Given the description of an element on the screen output the (x, y) to click on. 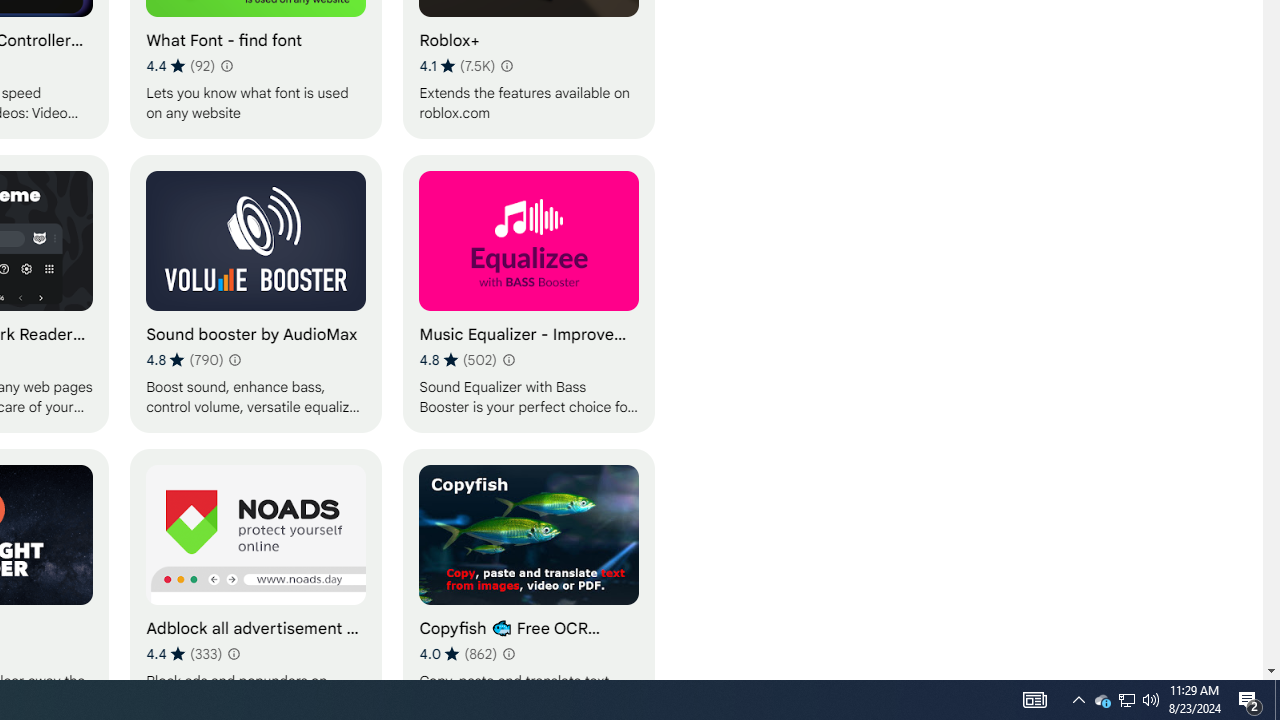
Music Equalizer - Improve Sound for everyone (529, 293)
Sound booster by AudioMax (256, 293)
Average rating 4.8 out of 5 stars. 502 ratings. (457, 359)
Learn more about results and reviews "Roblox+" (506, 65)
Average rating 4.4 out of 5 stars. 333 ratings. (183, 653)
Average rating 4.1 out of 5 stars. 7.5K ratings. (457, 66)
Average rating 4.8 out of 5 stars. 790 ratings. (184, 359)
Average rating 4.4 out of 5 stars. 92 ratings. (180, 66)
Average rating 4.0 out of 5 stars. 862 ratings. (457, 653)
Learn more about results and reviews "What Font - find font" (226, 65)
